Given the description of an element on the screen output the (x, y) to click on. 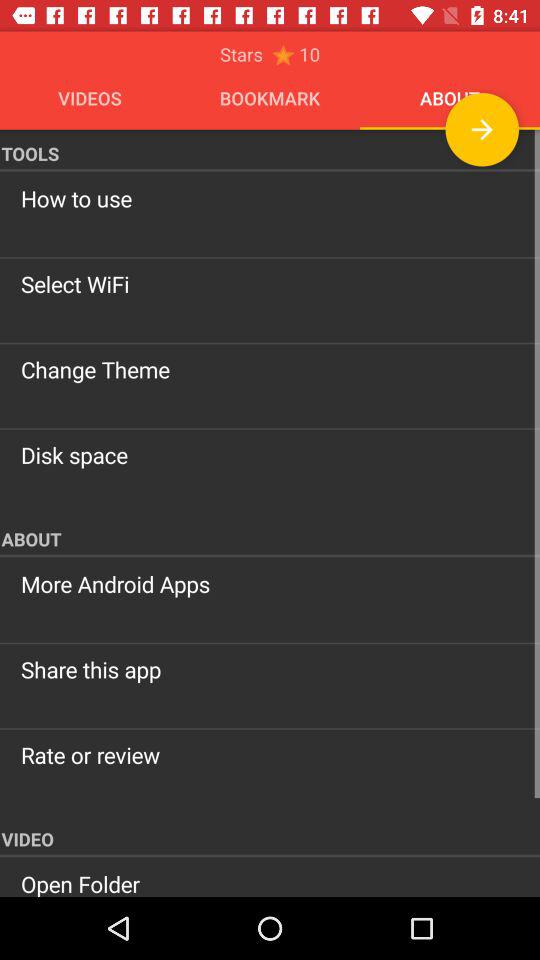
choose the item below tools icon (270, 198)
